Given the description of an element on the screen output the (x, y) to click on. 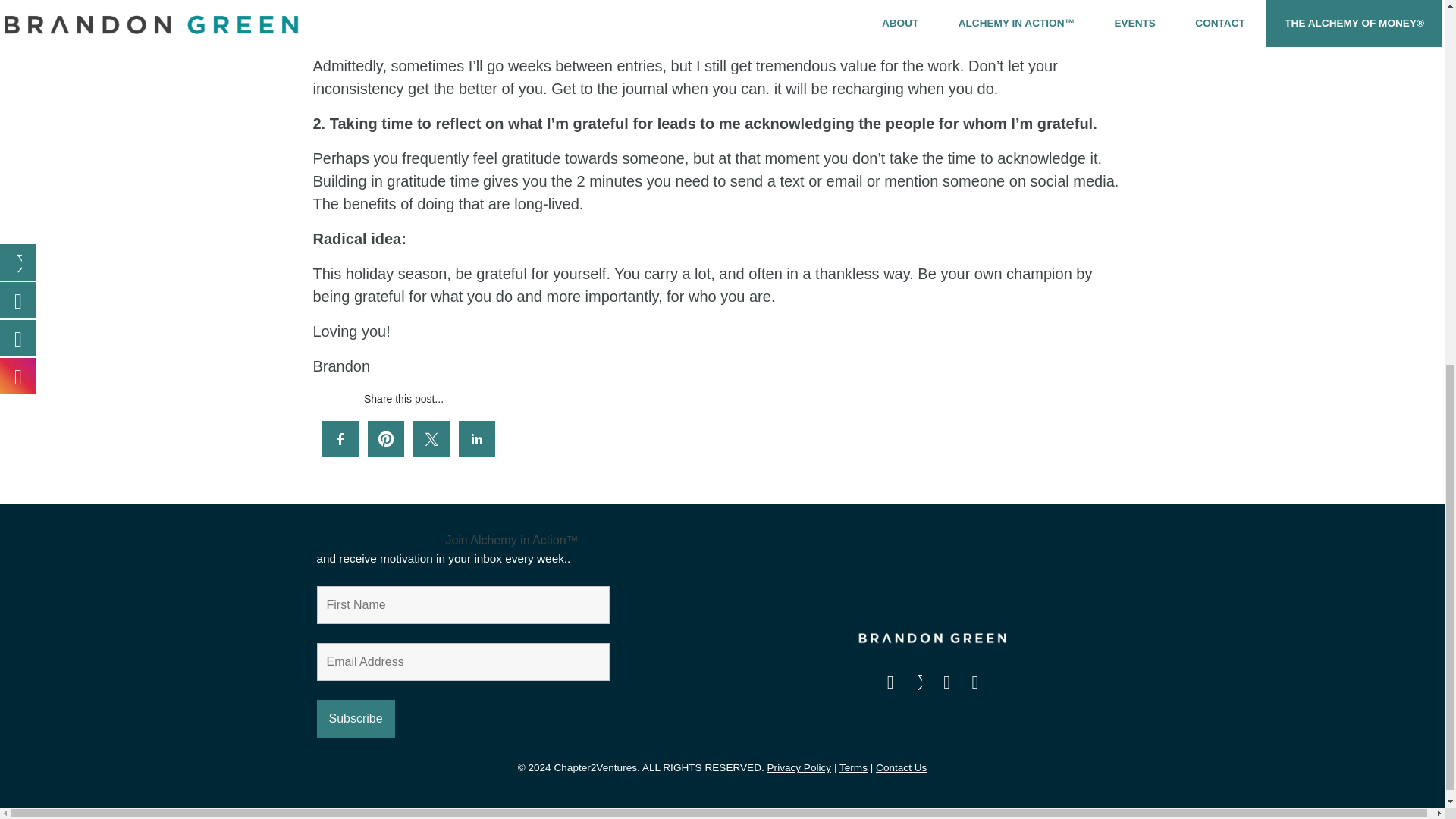
Terms (853, 767)
Subscribe (355, 718)
Contact Us (901, 767)
Privacy Policy (799, 767)
Subscribe (355, 718)
